Given the description of an element on the screen output the (x, y) to click on. 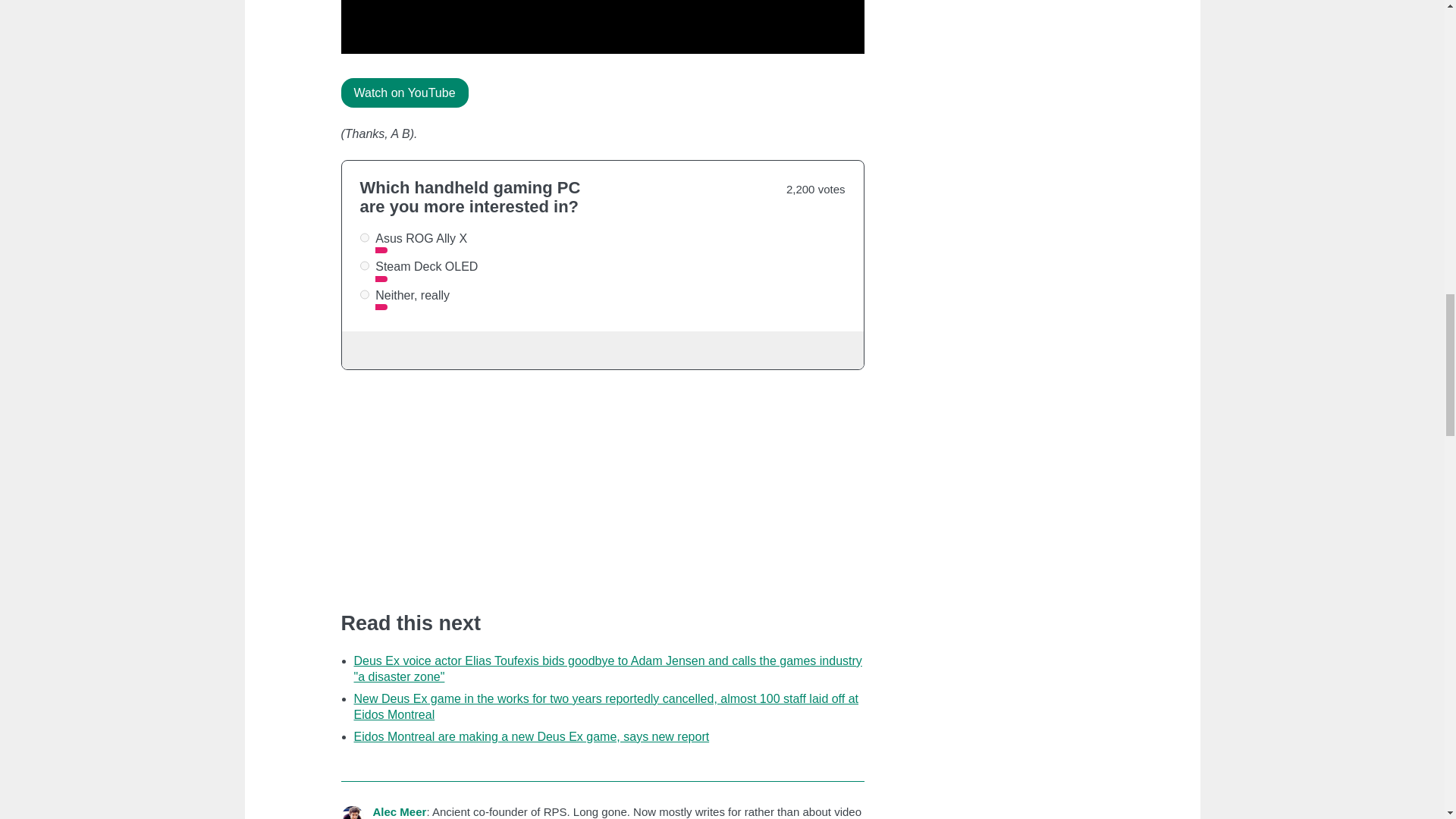
on (364, 266)
on (364, 294)
on (364, 237)
